Given the description of an element on the screen output the (x, y) to click on. 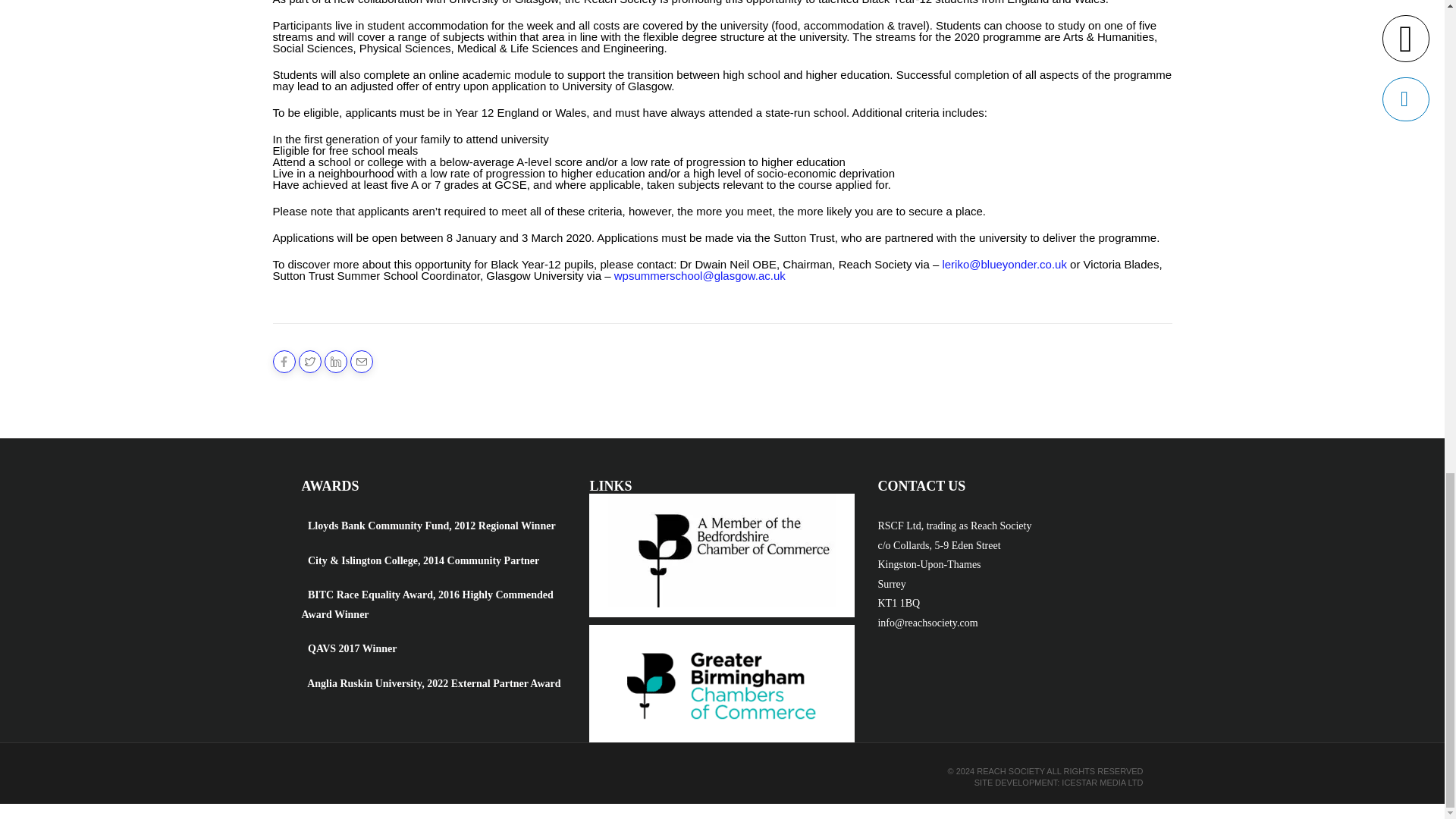
BCC Member logo (721, 550)
